Given the description of an element on the screen output the (x, y) to click on. 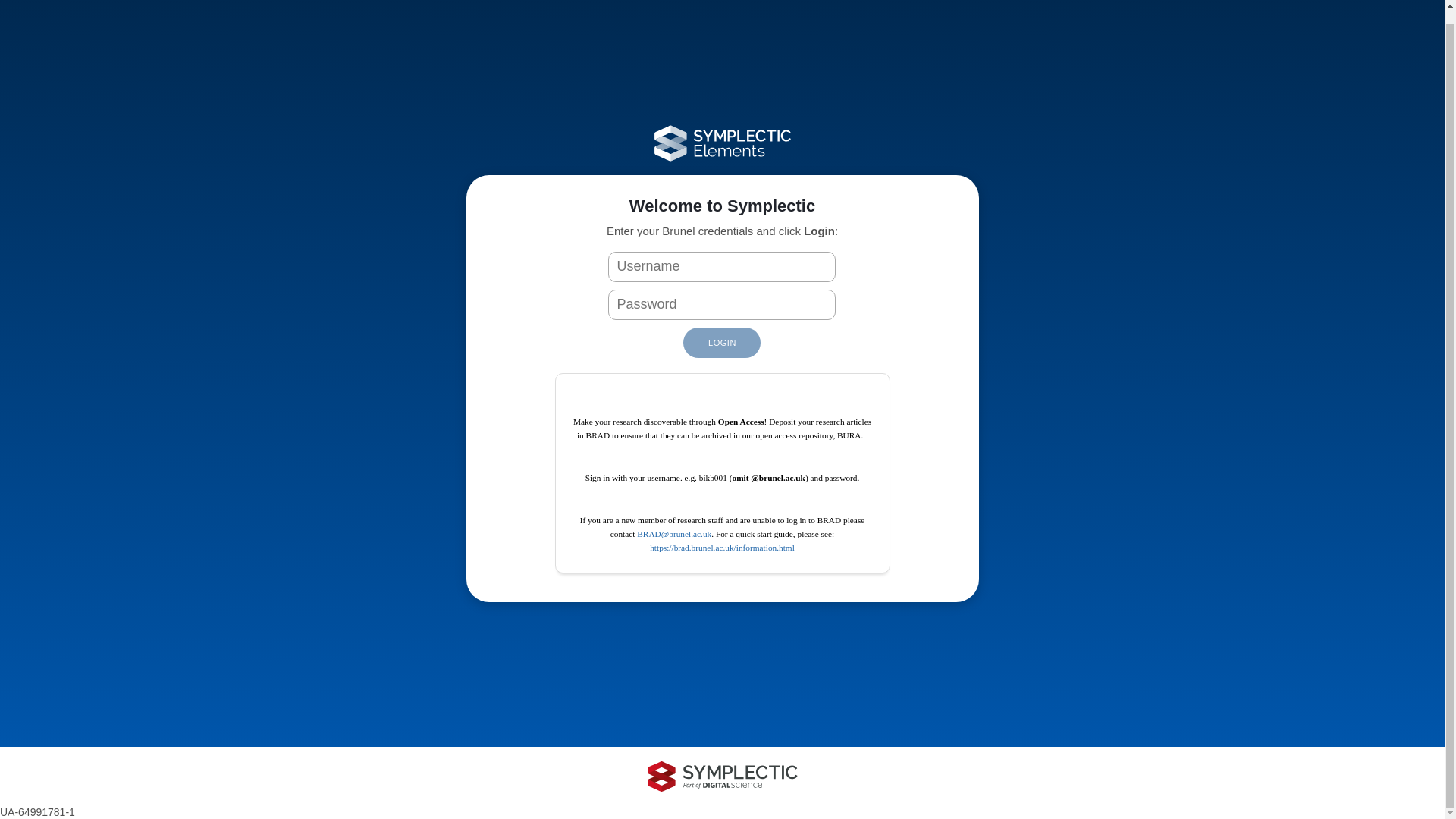
LOGIN (721, 342)
